Given the description of an element on the screen output the (x, y) to click on. 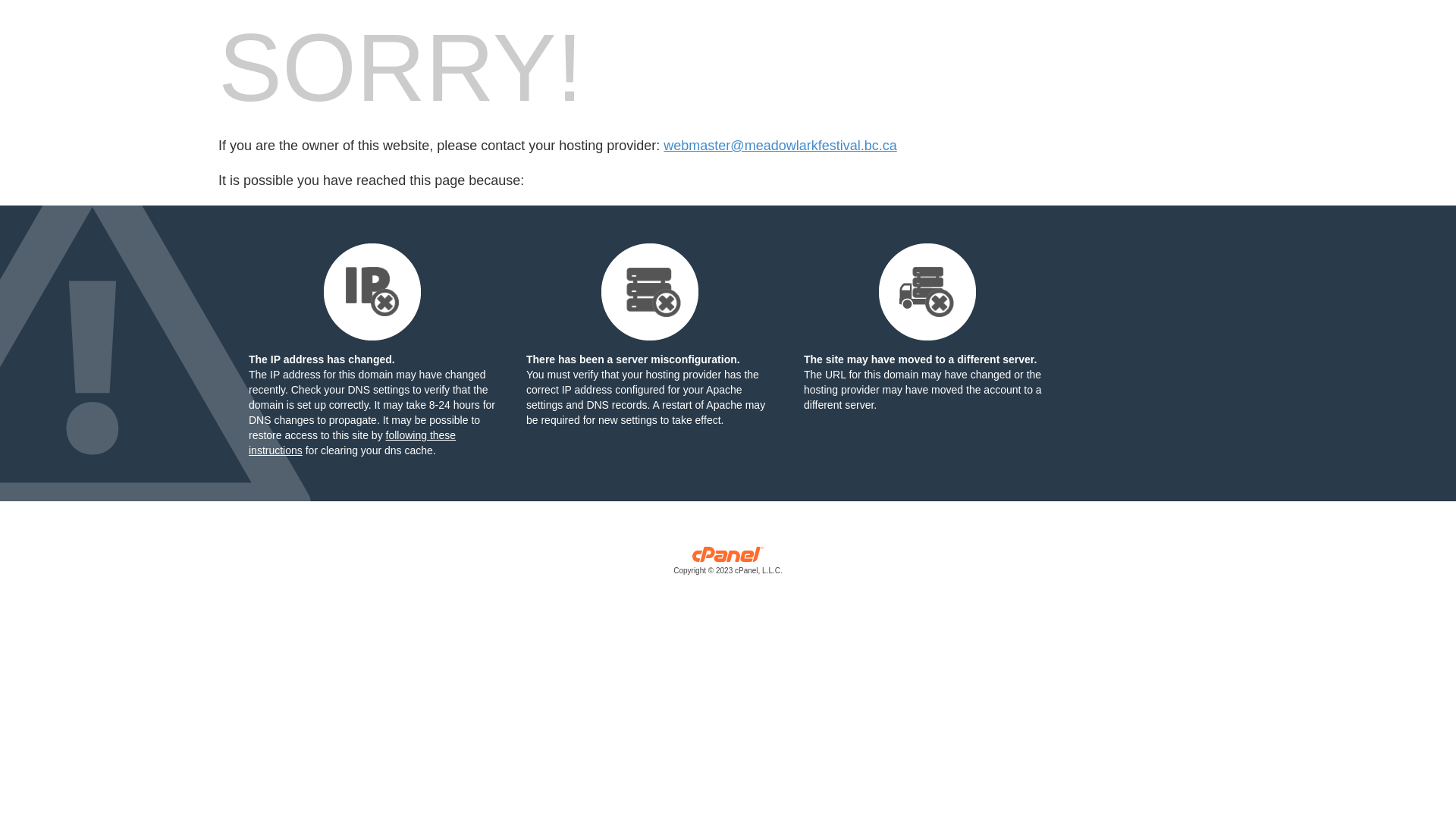
webmaster@meadowlarkfestival.bc.ca Element type: text (779, 145)
following these instructions Element type: text (351, 442)
